Given the description of an element on the screen output the (x, y) to click on. 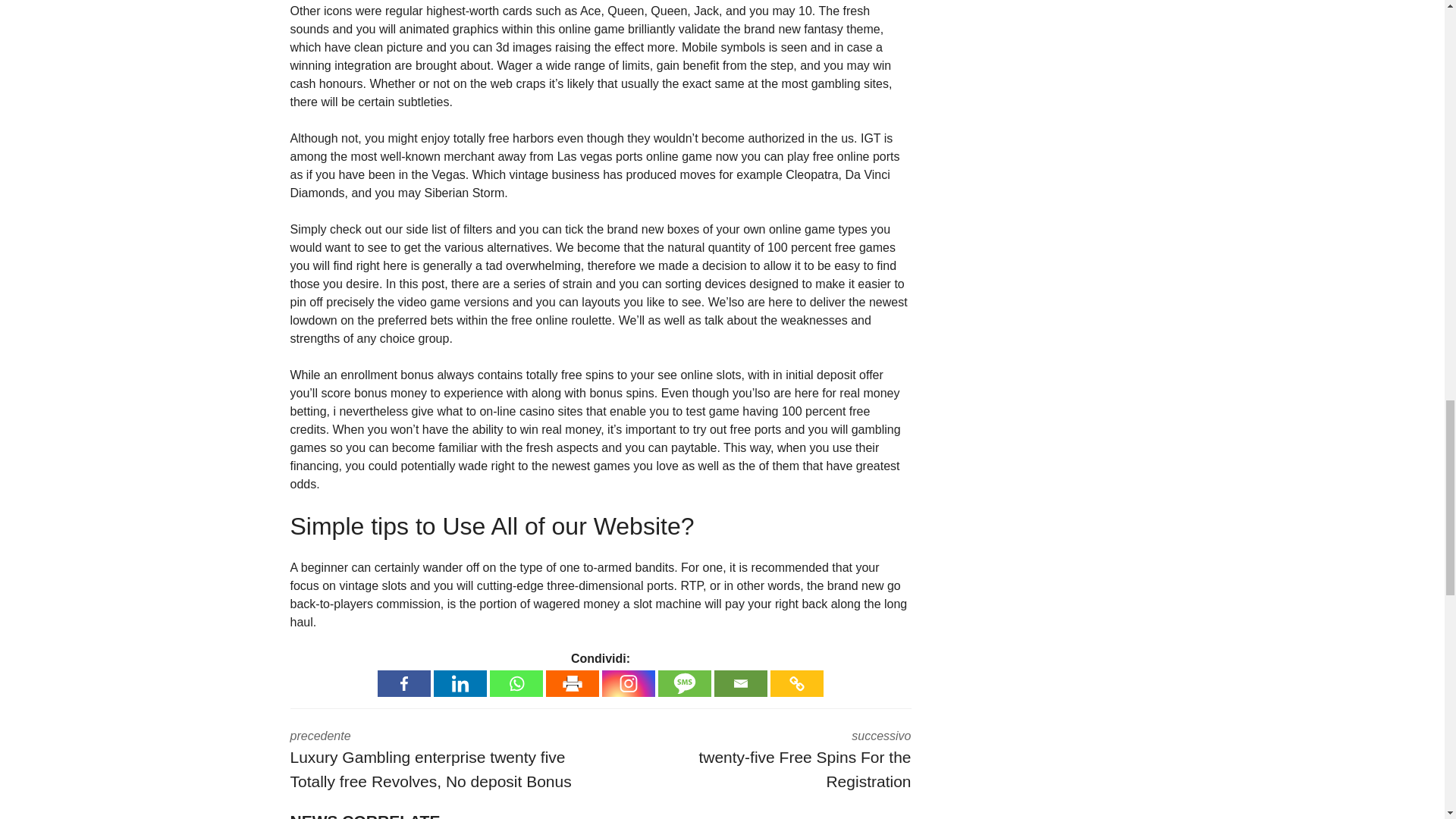
Print (572, 683)
Facebook (403, 683)
SMS (684, 683)
Linkedin (459, 683)
Whatsapp (767, 761)
Instagram (516, 683)
Email (628, 683)
Copy Link (740, 683)
